Given the description of an element on the screen output the (x, y) to click on. 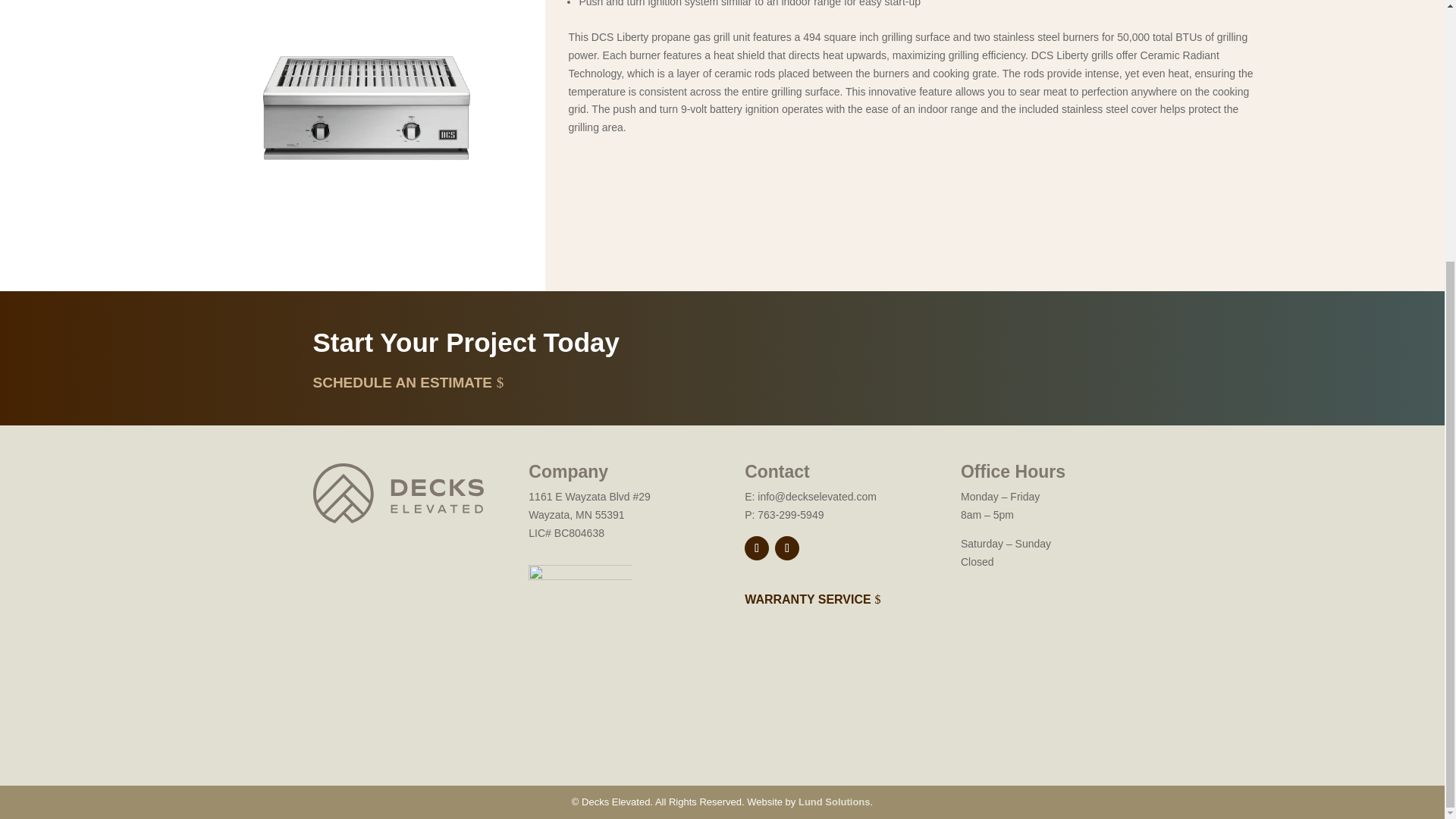
DCS Series 7 30 Inch Built In All Grill (366, 107)
Follow on Facebook (786, 548)
Lund Solutions (833, 801)
Follow on Instagram (756, 548)
GoogleReview (579, 601)
WARRANTY SERVICE (807, 598)
SCHEDULE AN ESTIMATE (402, 382)
